Given the description of an element on the screen output the (x, y) to click on. 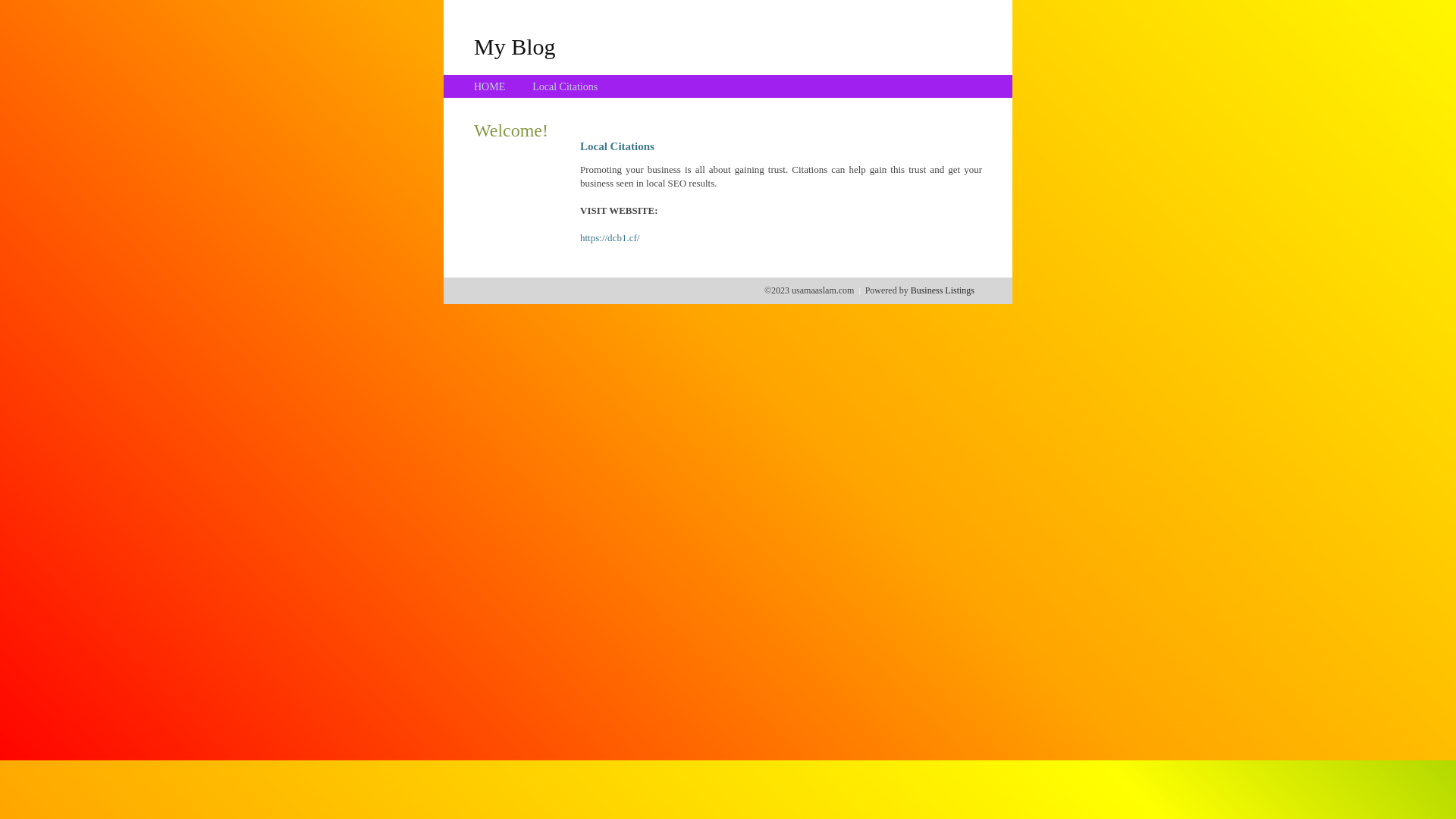
Business Listings Element type: text (942, 290)
My Blog Element type: text (514, 46)
HOME Element type: text (489, 86)
https://dcb1.cf/ Element type: text (609, 237)
Local Citations Element type: text (564, 86)
